Given the description of an element on the screen output the (x, y) to click on. 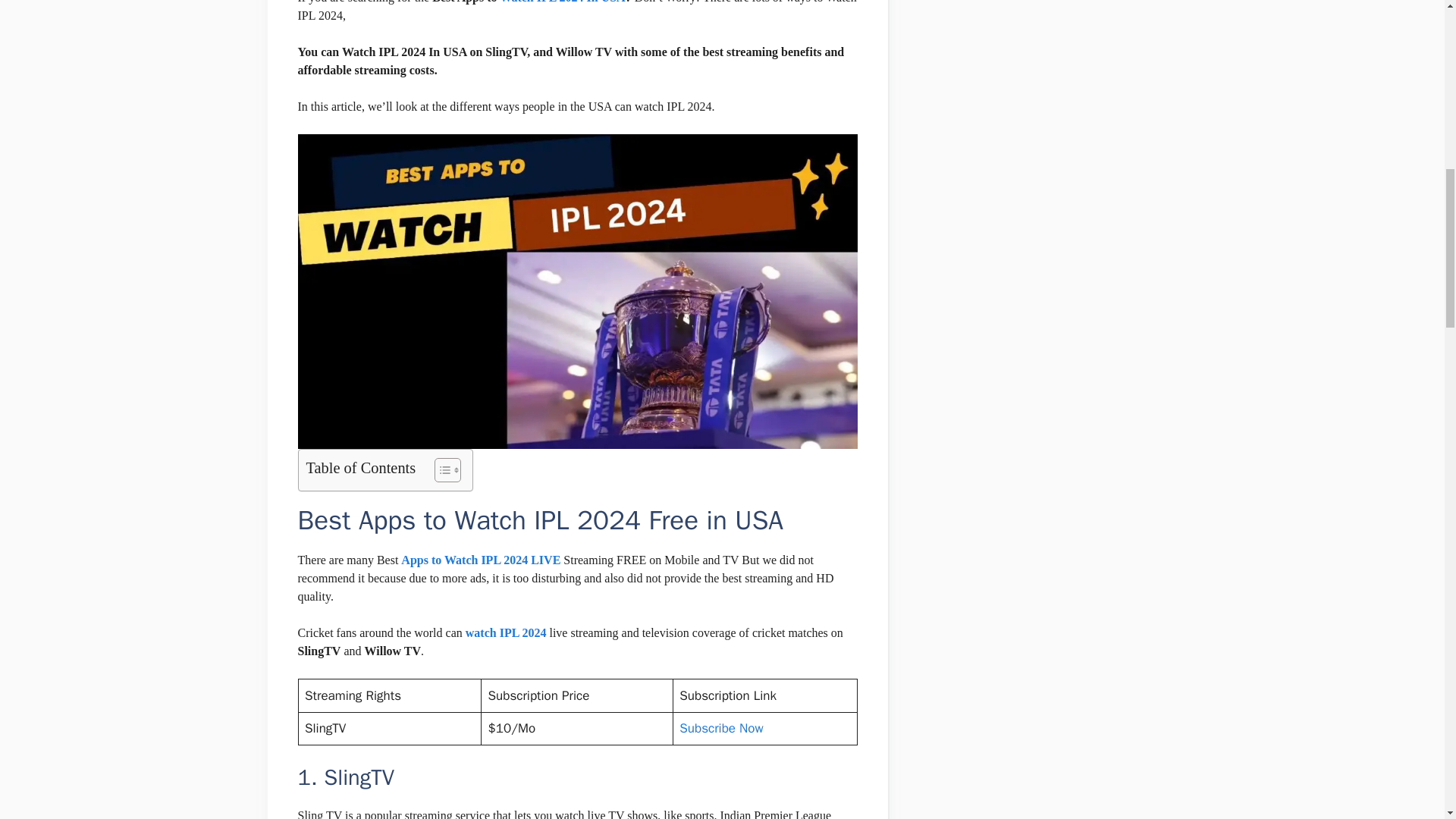
Subscribe Now (720, 728)
Watch IPL 2024 In USA (561, 2)
Apps to Watch IPL 2024 LIVE (480, 559)
Scroll back to top (1406, 720)
watch IPL 2024 (506, 632)
